Given the description of an element on the screen output the (x, y) to click on. 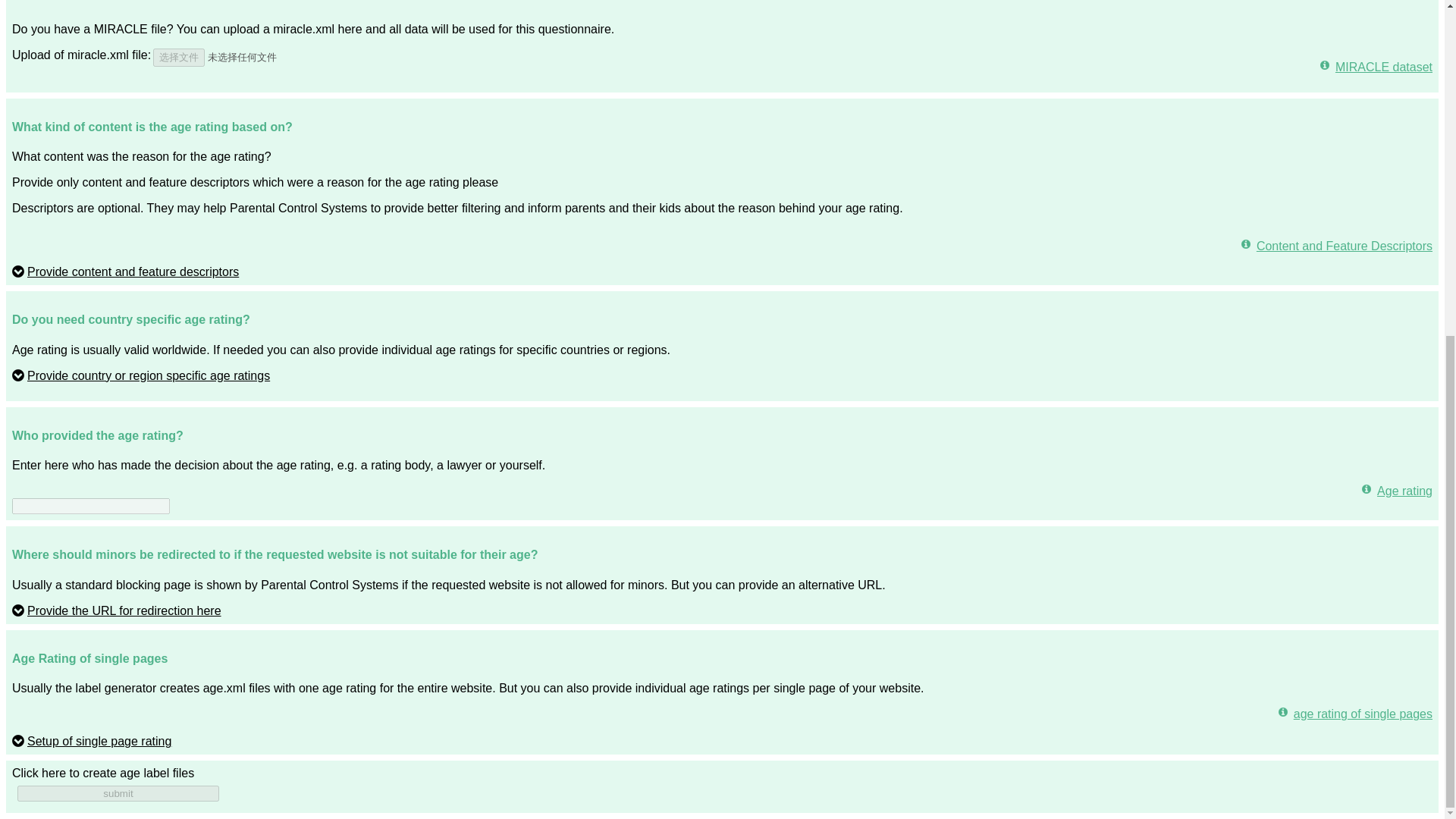
submit (118, 793)
Age rating (1396, 490)
Provide country or region specific age ratings (140, 375)
Provide content and feature descriptors (124, 271)
MIRACLE dataset (1376, 66)
Content and Feature Descriptors (1336, 245)
Provide the URL for redirection here (116, 610)
